Given the description of an element on the screen output the (x, y) to click on. 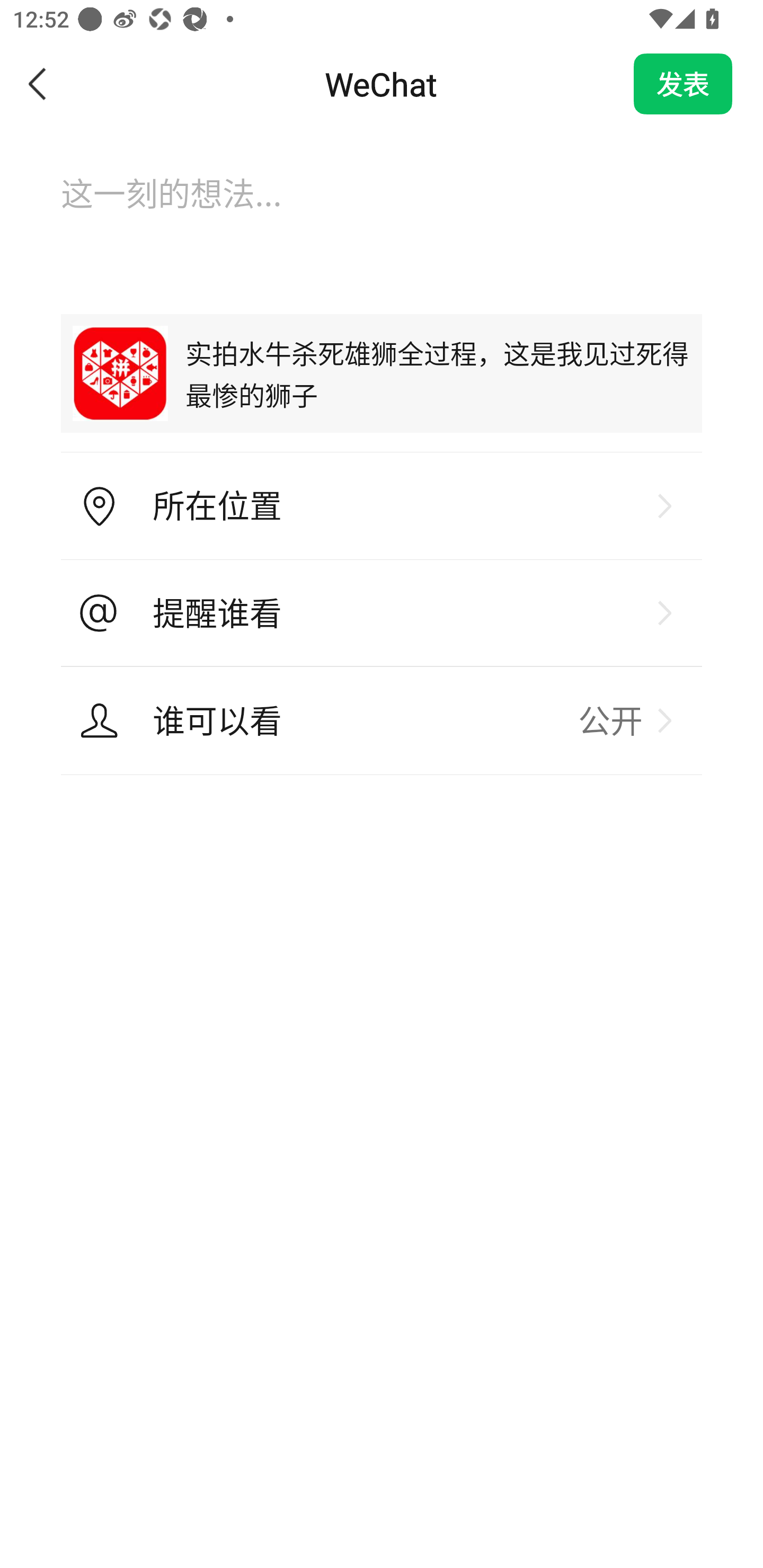
返回 (38, 83)
发表 (683, 83)
这一刻的想法... (381, 211)
实拍水牛杀死雄狮全过程，这是我见过死得最惨的狮子 (381, 372)
所在位置 (381, 506)
提醒谁看  提醒谁看 (381, 612)
谁可以看 公开 (381, 720)
